Given the description of an element on the screen output the (x, y) to click on. 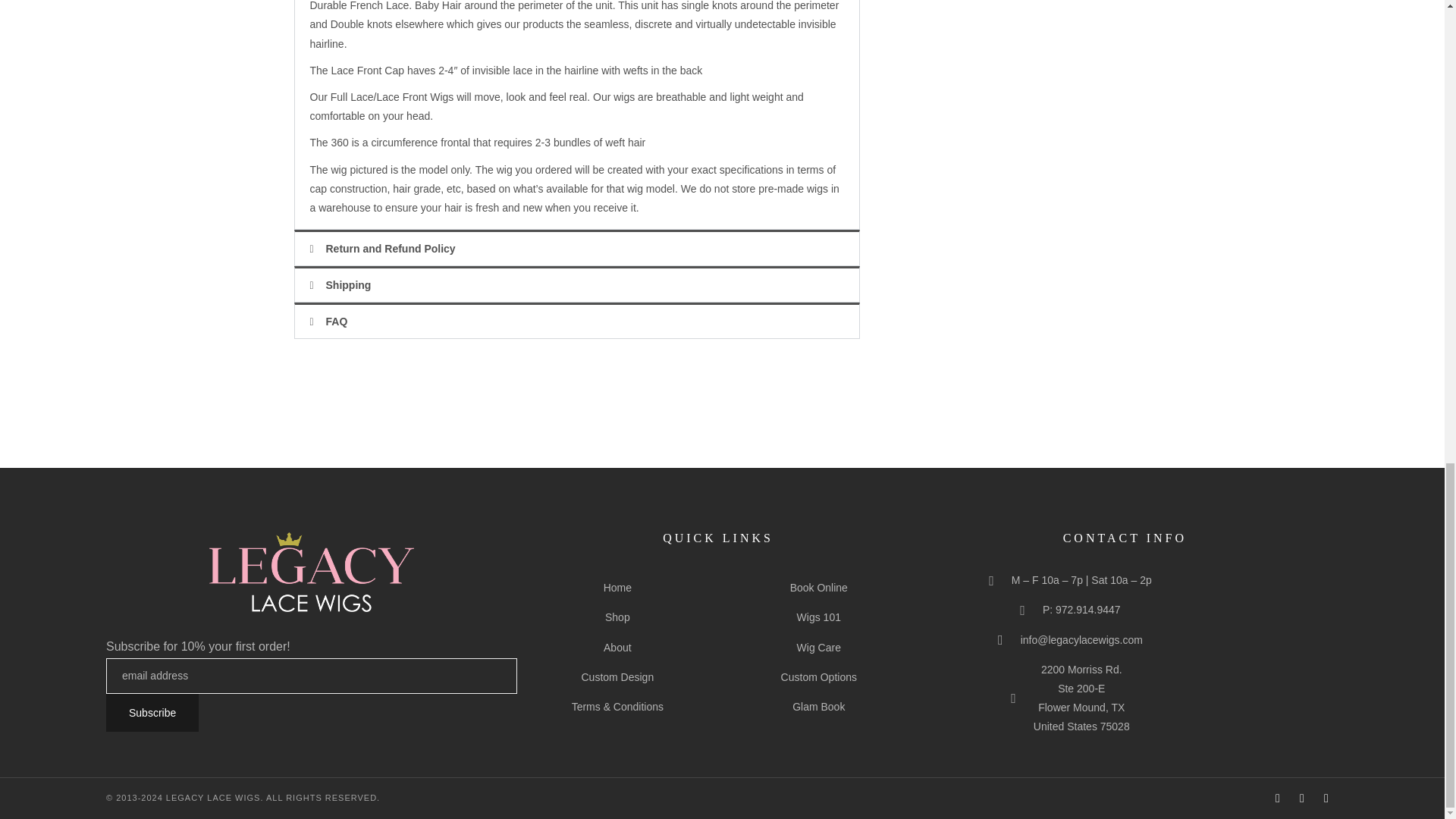
Legacy Lace Wigs (311, 571)
Subscribe (152, 712)
